Given the description of an element on the screen output the (x, y) to click on. 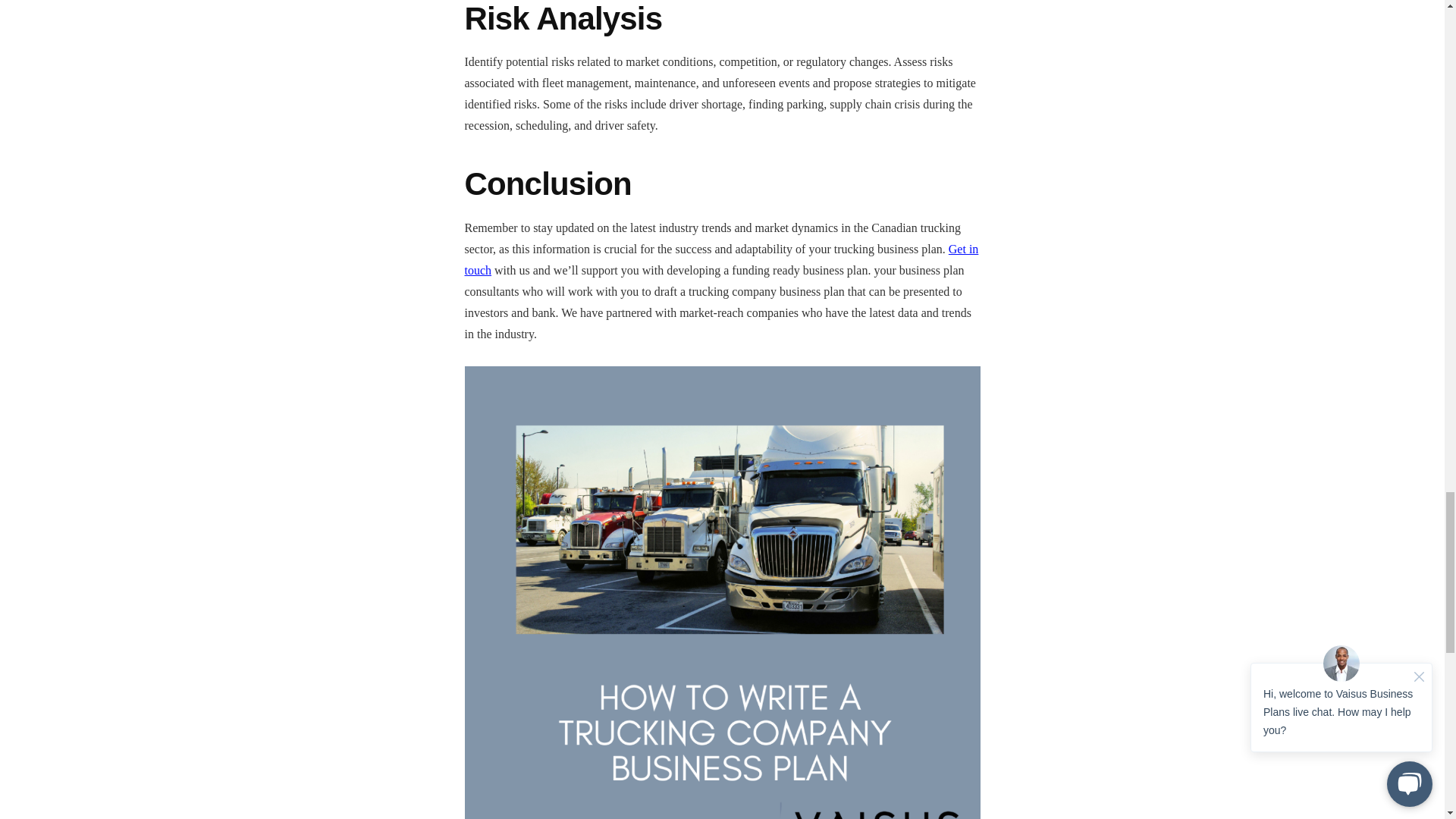
Get in touch (721, 259)
